Given the description of an element on the screen output the (x, y) to click on. 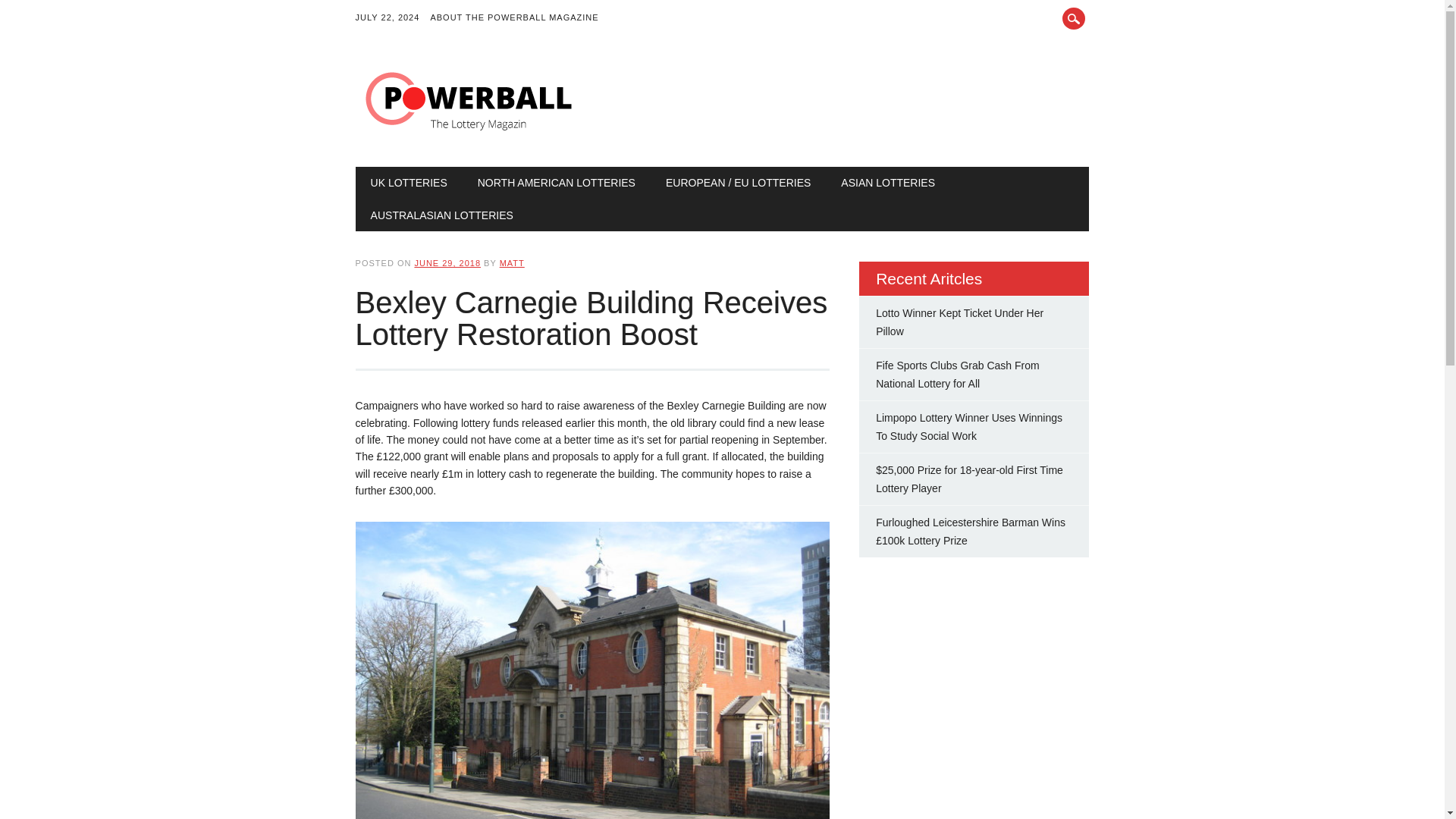
UK LOTTERIES (409, 183)
View all posts by Matt (511, 262)
ABOUT THE POWERBALL MAGAZINE (519, 17)
11:01 am (446, 262)
Powerball (469, 135)
NORTH AMERICAN LOTTERIES (556, 183)
JUNE 29, 2018 (446, 262)
Fife Sports Clubs Grab Cash From National Lottery for All (957, 374)
Limpopo Lottery Winner Uses Winnings To Study Social Work (969, 426)
Lotto Winner Kept Ticket Under Her Pillow (959, 322)
MATT (511, 262)
ASIAN LOTTERIES (887, 183)
AUSTRALASIAN LOTTERIES (441, 214)
